Given the description of an element on the screen output the (x, y) to click on. 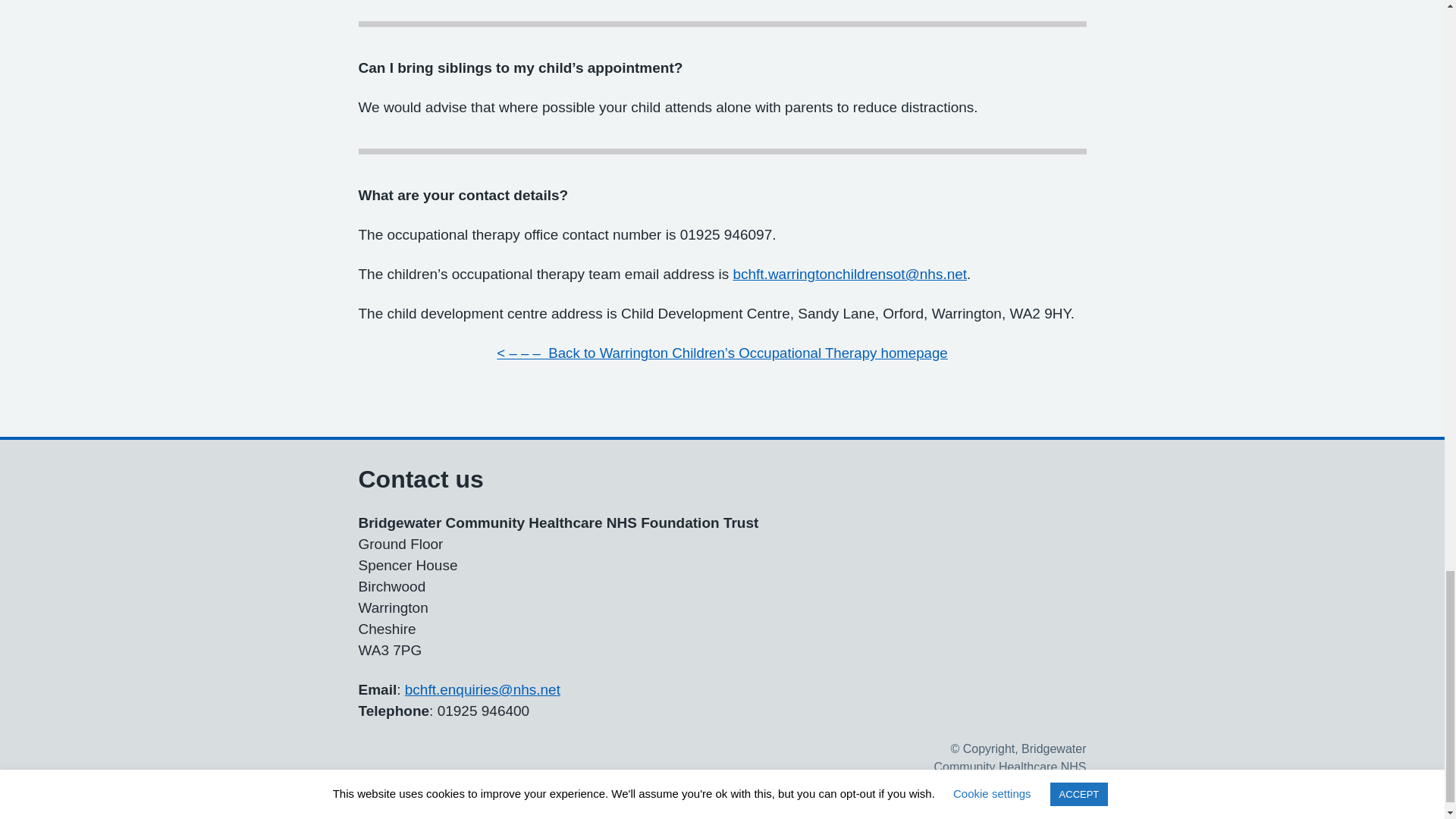
Semantic Personal Publishing Platform (482, 689)
